Given the description of an element on the screen output the (x, y) to click on. 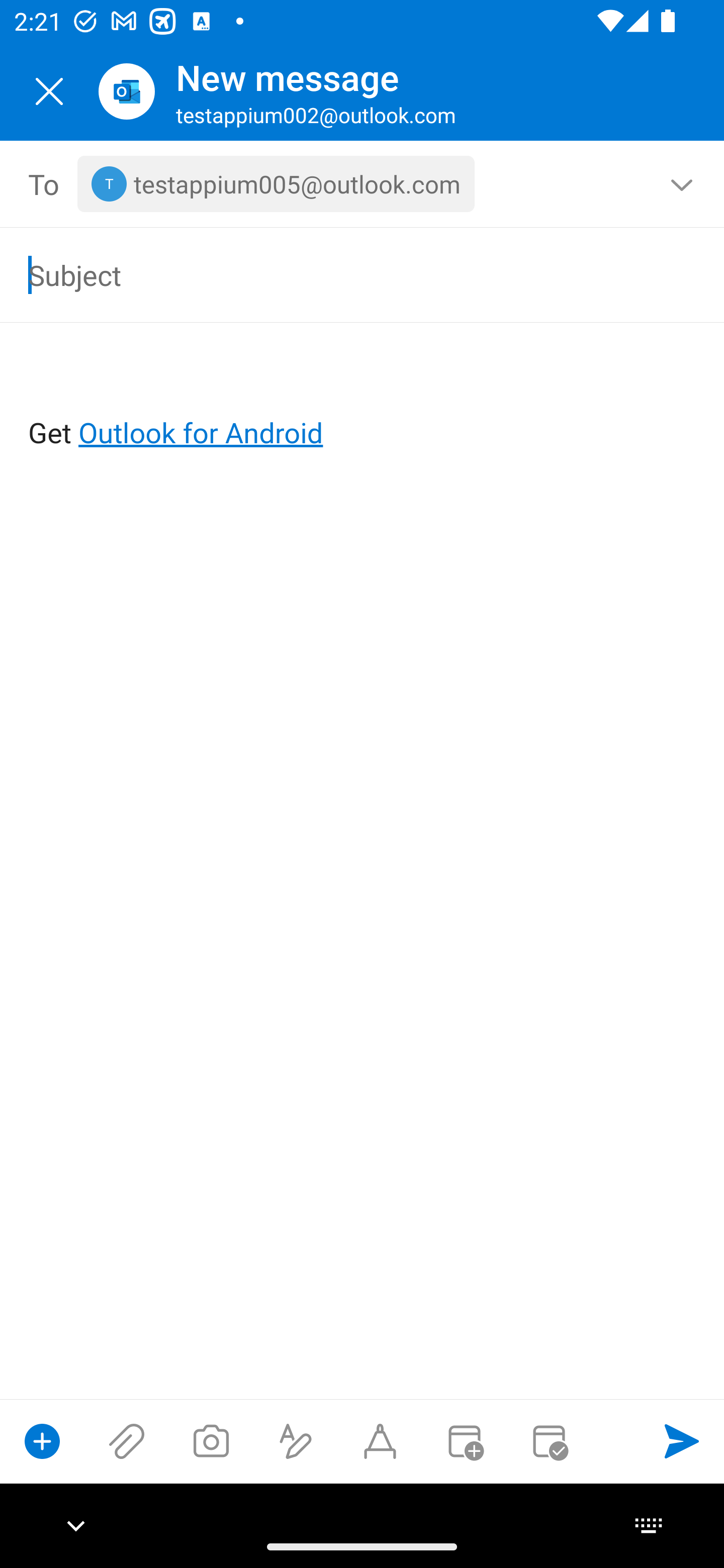
Close (49, 91)
Subject (333, 274)


Get Outlook for Android (363, 400)
Show compose options (42, 1440)
Attach files (126, 1440)
Take a photo (210, 1440)
Show formatting options (295, 1440)
Start Ink compose (380, 1440)
Convert to event (464, 1440)
Send availability (548, 1440)
Send (681, 1440)
